Given the description of an element on the screen output the (x, y) to click on. 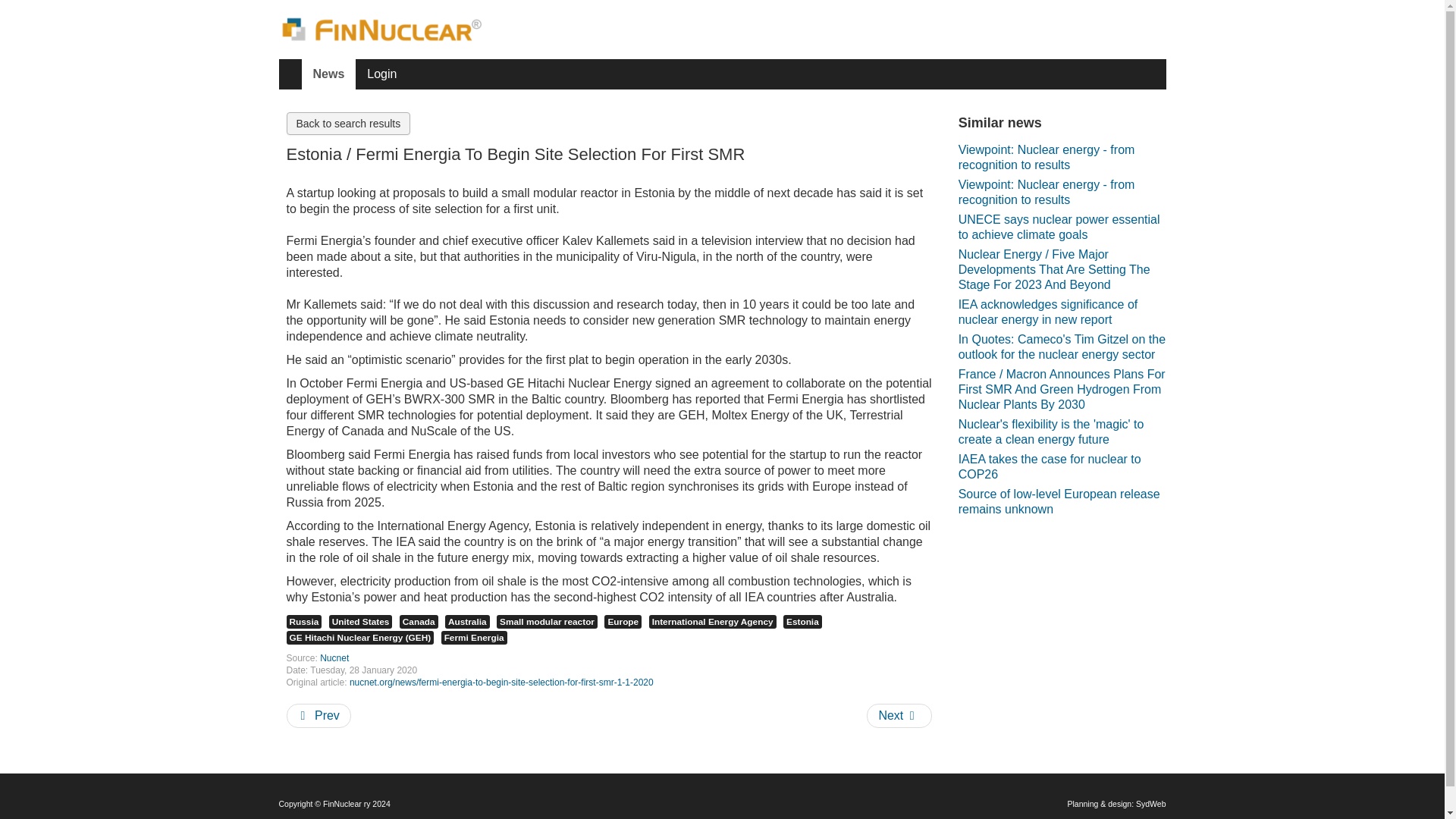
Prev (318, 715)
UNECE says nuclear power essential to achieve climate goals (1062, 226)
Next (898, 715)
SydWeb (1150, 803)
Viewpoint: Nuclear energy - from recognition to results (1062, 157)
Russia (303, 621)
Canada (418, 621)
IAEA takes the case for nuclear to COP26 (1062, 466)
Fermi Energia (473, 637)
Login (381, 73)
International Energy Agency (712, 621)
Australia (467, 621)
Back to search results (348, 123)
